Given the description of an element on the screen output the (x, y) to click on. 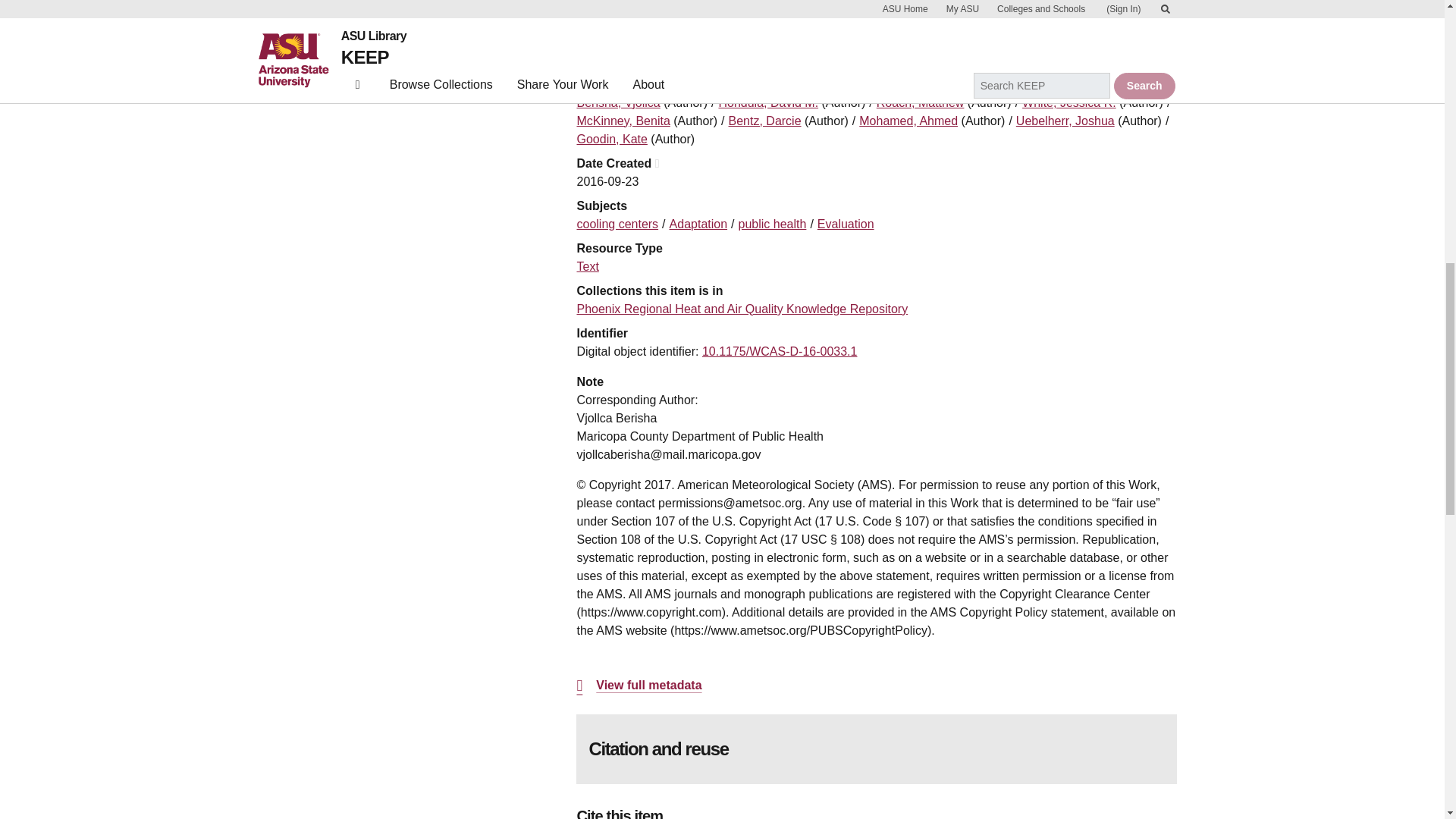
Bentz, Darcie (765, 120)
Uebelherr, Joshua (1065, 120)
Hondula, David M. (767, 102)
Mohamed, Ahmed (908, 120)
Berisha, Vjollca (617, 102)
McKinney, Benita (622, 120)
Roach, Matthew (919, 102)
White, Jessica R. (1069, 102)
